Given the description of an element on the screen output the (x, y) to click on. 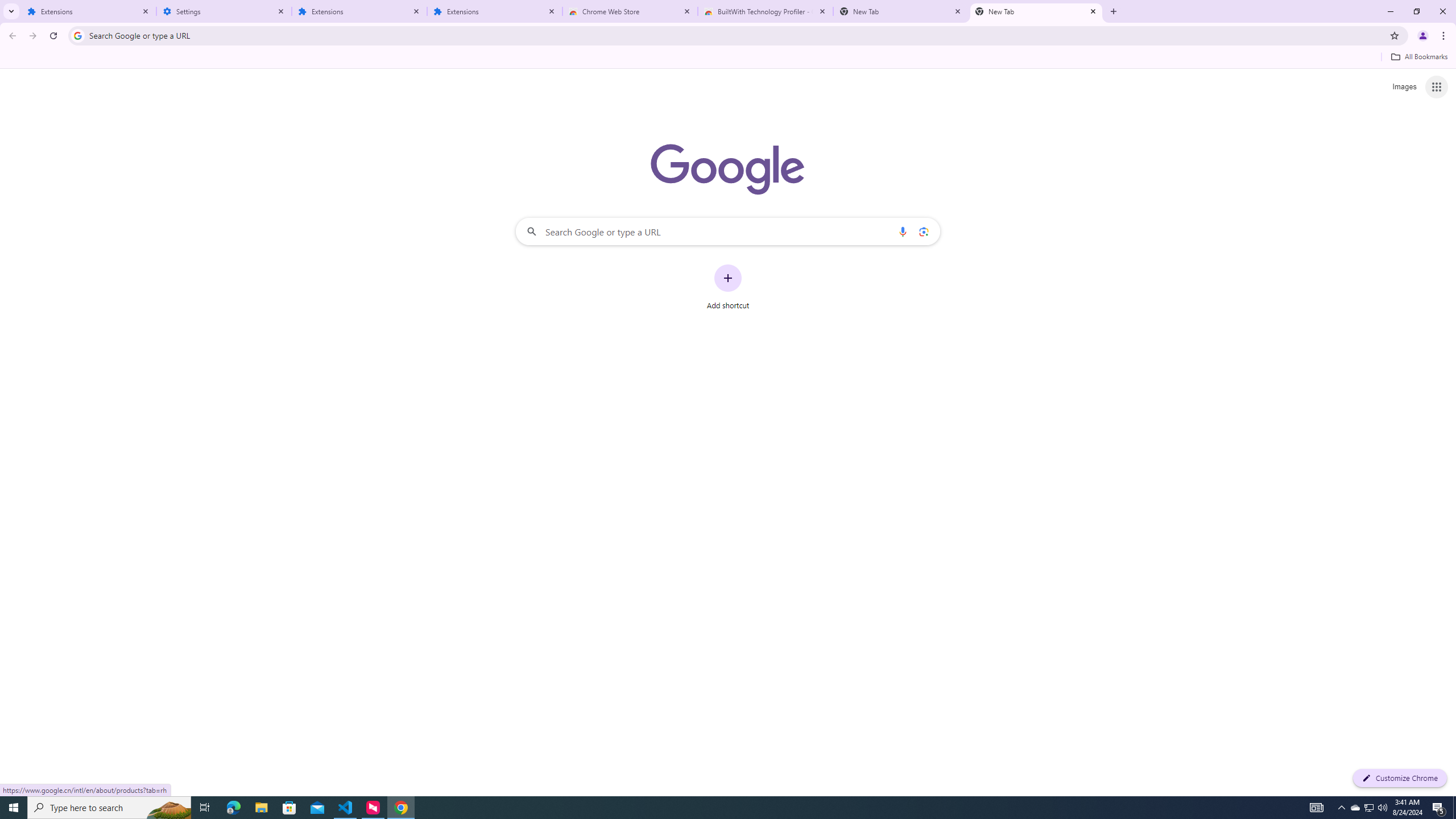
Search Google or type a URL (727, 230)
Settings (224, 11)
Add shortcut (727, 287)
All Bookmarks (1418, 56)
